Given the description of an element on the screen output the (x, y) to click on. 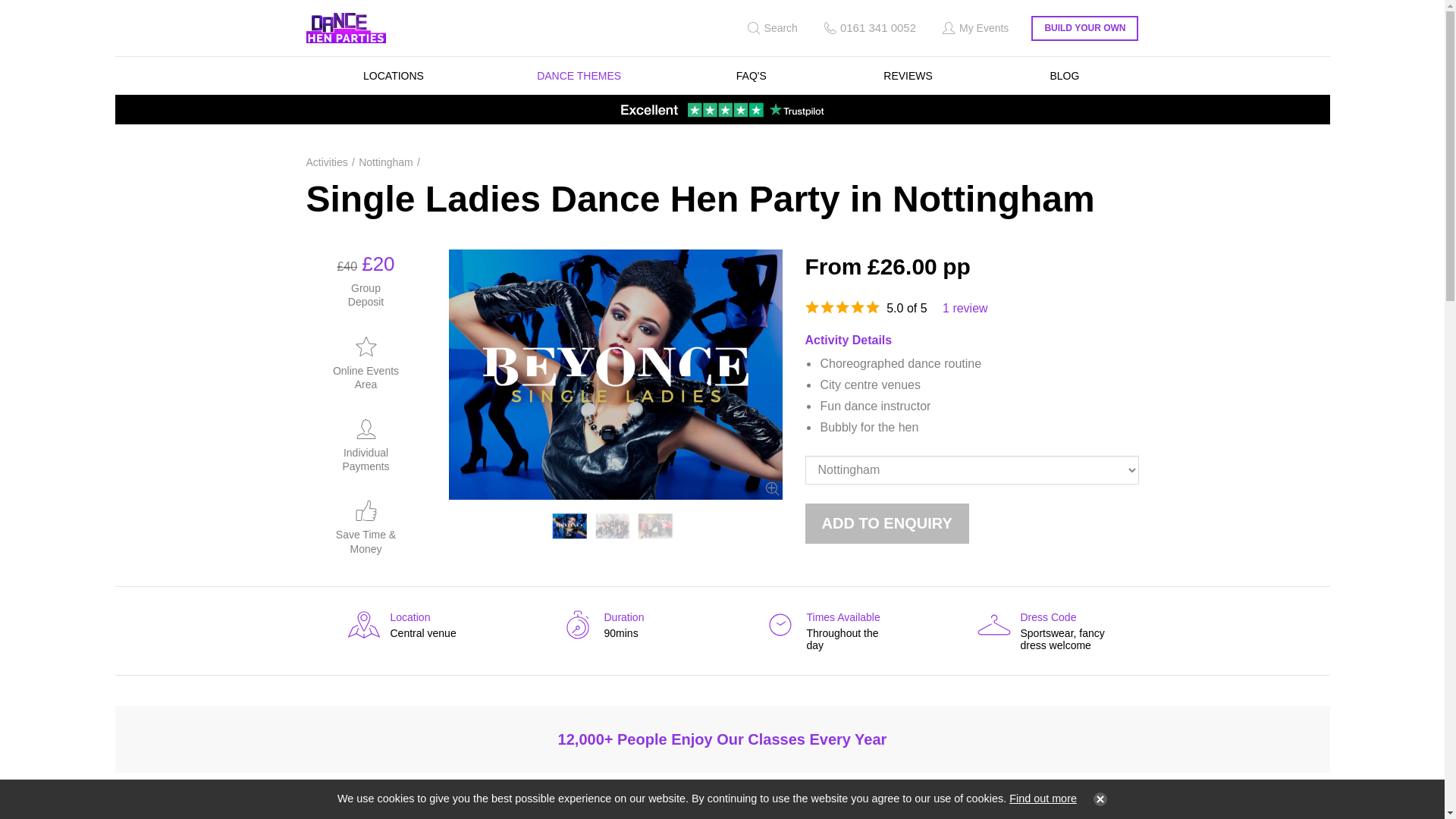
My Events (974, 28)
Nottingham (400, 624)
Add to enquiry (389, 162)
Activities (887, 523)
Beyonce Single Ladies Activity (330, 162)
Beyonce Single Ladies Dance Hen Parties (612, 525)
Online Events Area (569, 525)
DANCE THEMES (365, 361)
Find the event you are looking for (578, 75)
Add to enquiry (770, 28)
REVIEWS (887, 523)
FAQ'S (908, 75)
BLOG (751, 75)
1 review (1064, 75)
